Given the description of an element on the screen output the (x, y) to click on. 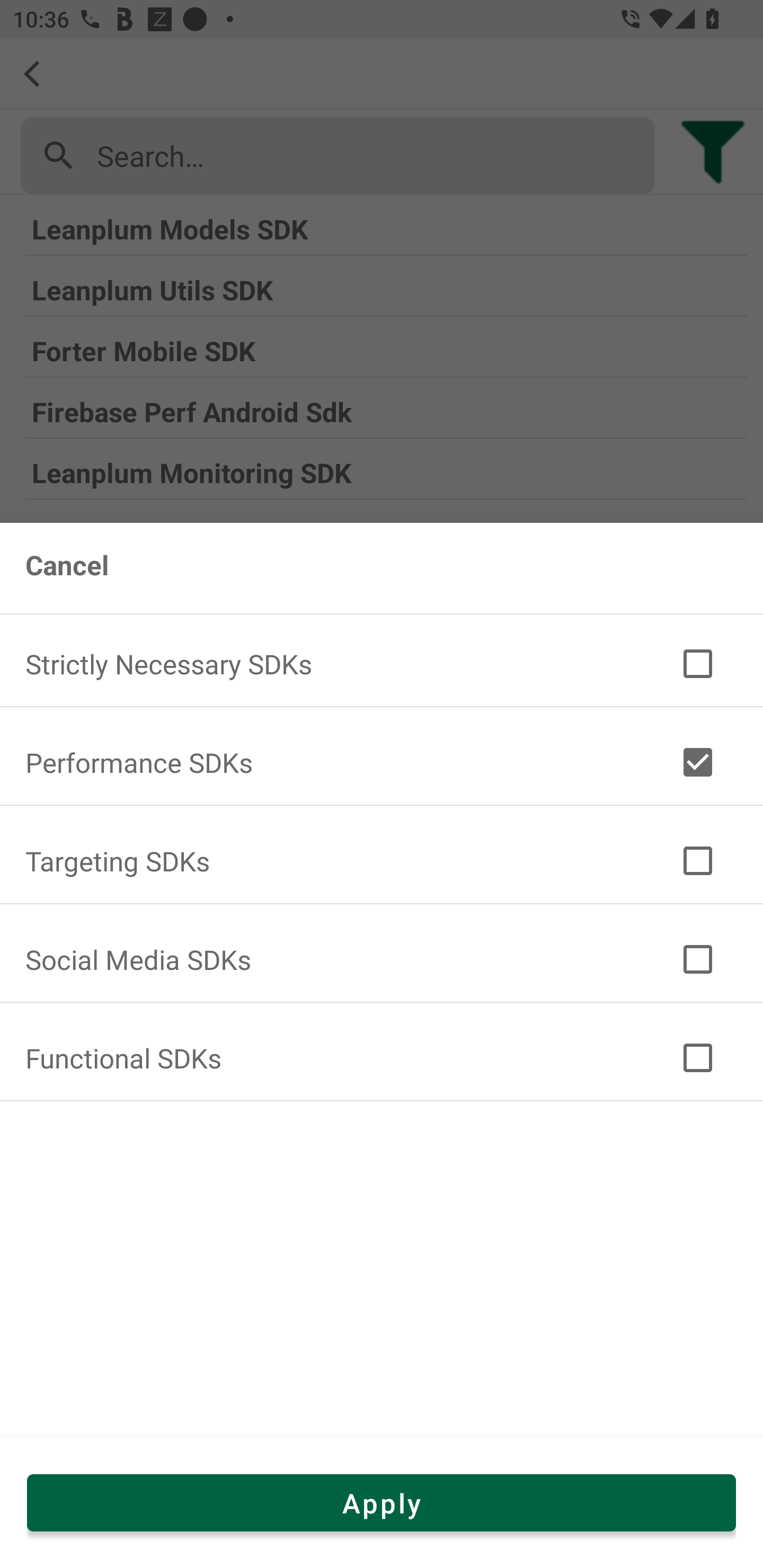
Cancel (67, 565)
Filter (697, 663)
Filter (697, 761)
Filter (697, 860)
Filter (697, 959)
Filter (697, 1057)
Apply (381, 1502)
